Given the description of an element on the screen output the (x, y) to click on. 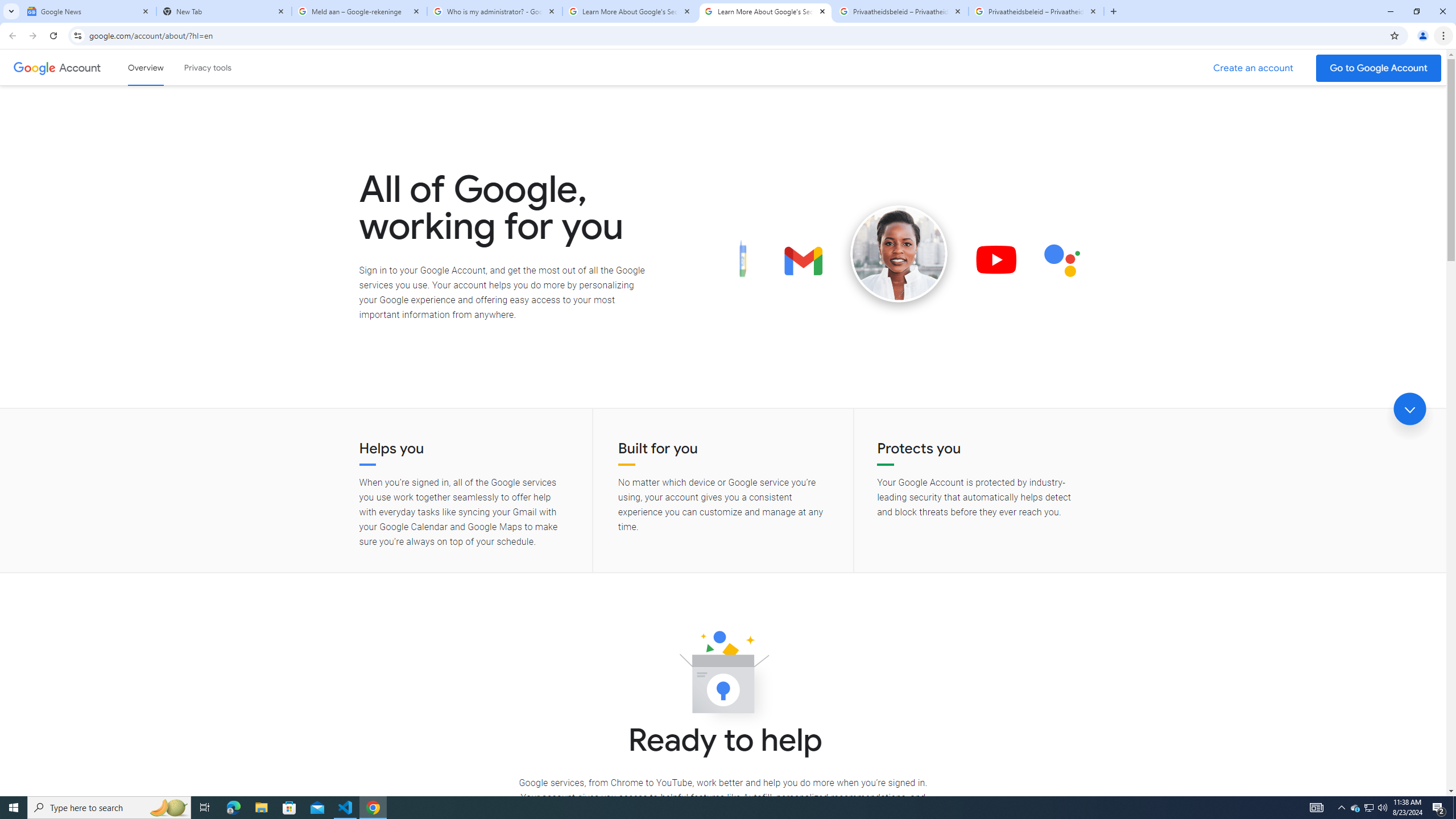
Go to your Google Account (1378, 67)
Close (1092, 11)
Google News (88, 11)
Search tabs (10, 11)
Google Account overview (145, 67)
Skip to Content (162, 65)
New Tab (224, 11)
System (6, 6)
Restore (1416, 11)
Privacy tools (207, 67)
Chrome (1445, 35)
